Given the description of an element on the screen output the (x, y) to click on. 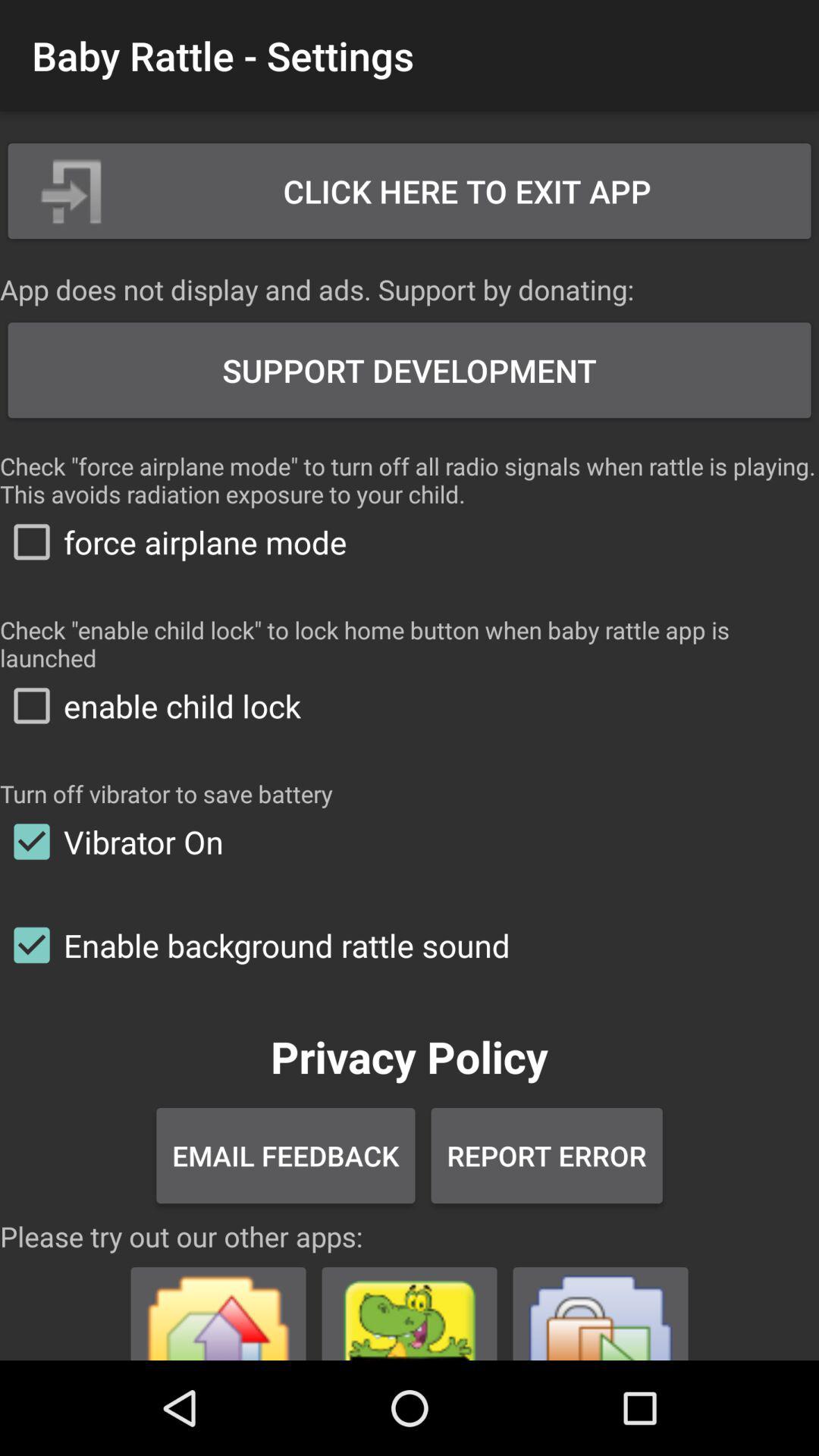
visit a sponsored app (600, 1307)
